Given the description of an element on the screen output the (x, y) to click on. 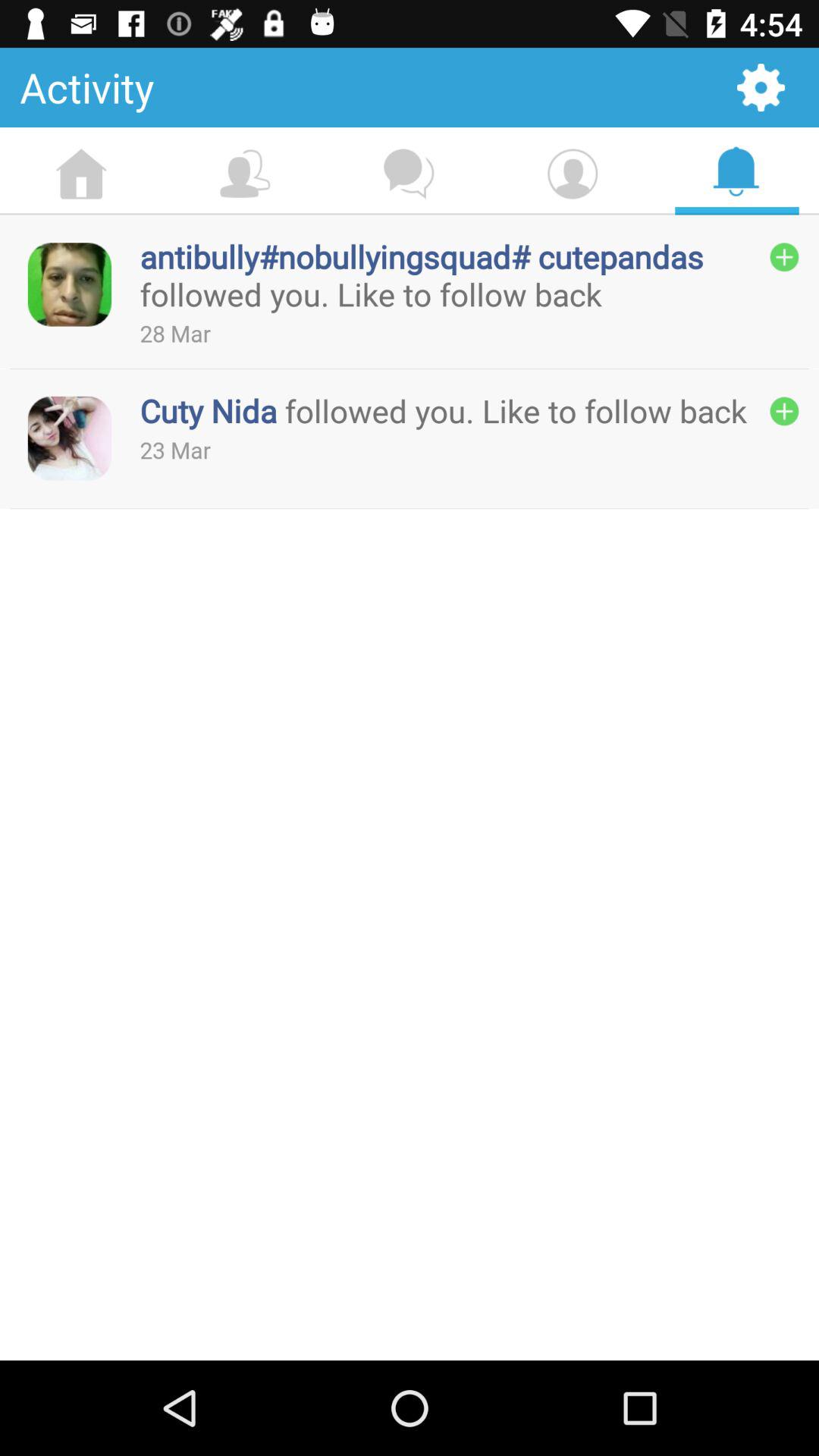
select the option which is after home option (245, 174)
select the bell icon which below the settings icon (736, 171)
click on profile image which is in between chat and bell icon (572, 174)
click on the add icon which is on the right side of cutepandas (784, 257)
select the first tab under the activity (81, 174)
click on the profile image left to text cuty nida (69, 437)
